Given the description of an element on the screen output the (x, y) to click on. 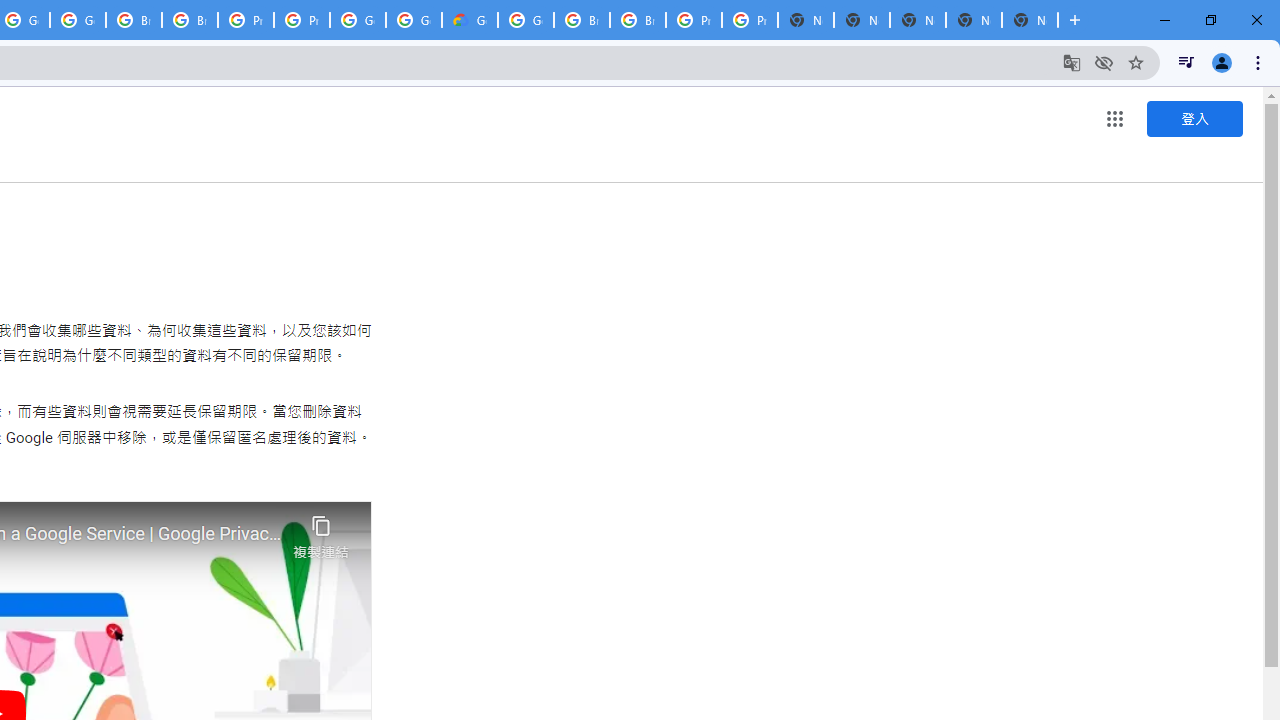
Google Cloud Estimate Summary (469, 20)
Browse Chrome as a guest - Computer - Google Chrome Help (189, 20)
Browse Chrome as a guest - Computer - Google Chrome Help (582, 20)
Browse Chrome as a guest - Computer - Google Chrome Help (134, 20)
New Tab (1030, 20)
Browse Chrome as a guest - Computer - Google Chrome Help (637, 20)
